Given the description of an element on the screen output the (x, y) to click on. 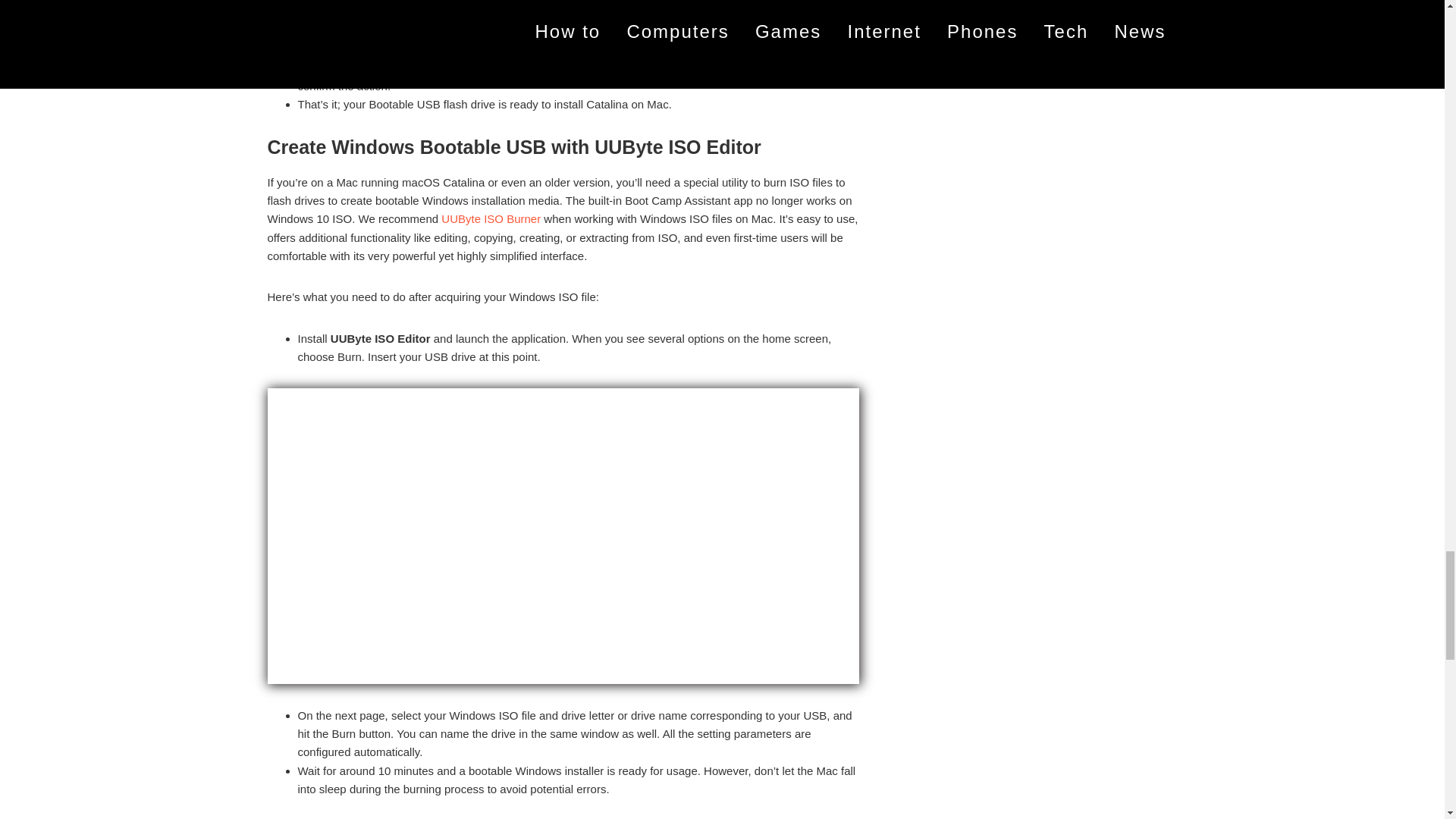
How to Create a Bootable USB for macOS Catalina? (562, 18)
UUByte ISO Burner (490, 218)
